Given the description of an element on the screen output the (x, y) to click on. 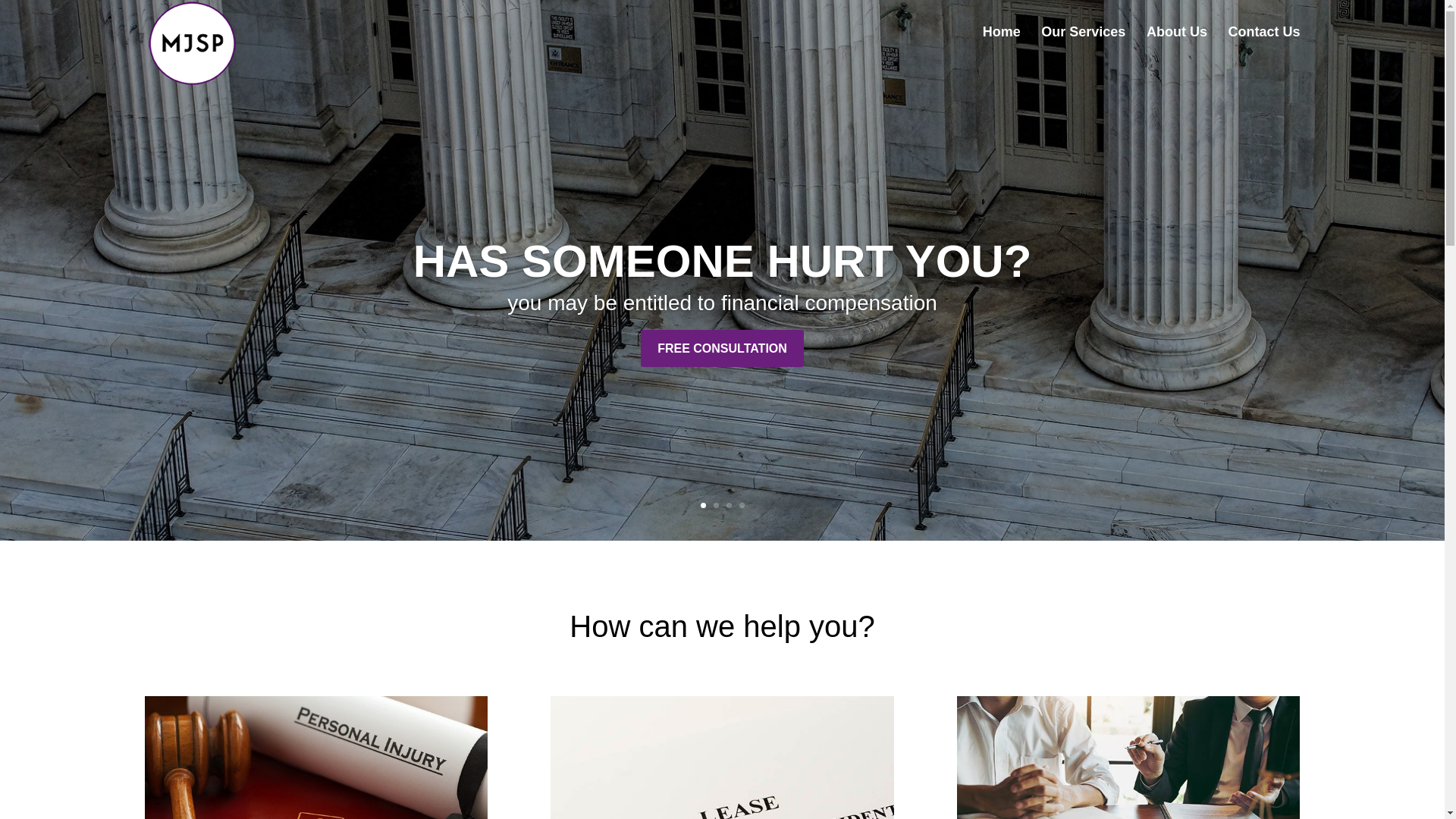
FREE CONSULTATION (721, 348)
Our Services (1083, 44)
HAS SOMEONE HURT YOU? (722, 260)
About Us (1177, 44)
Home (1001, 44)
Contact Us (1263, 44)
